Given the description of an element on the screen output the (x, y) to click on. 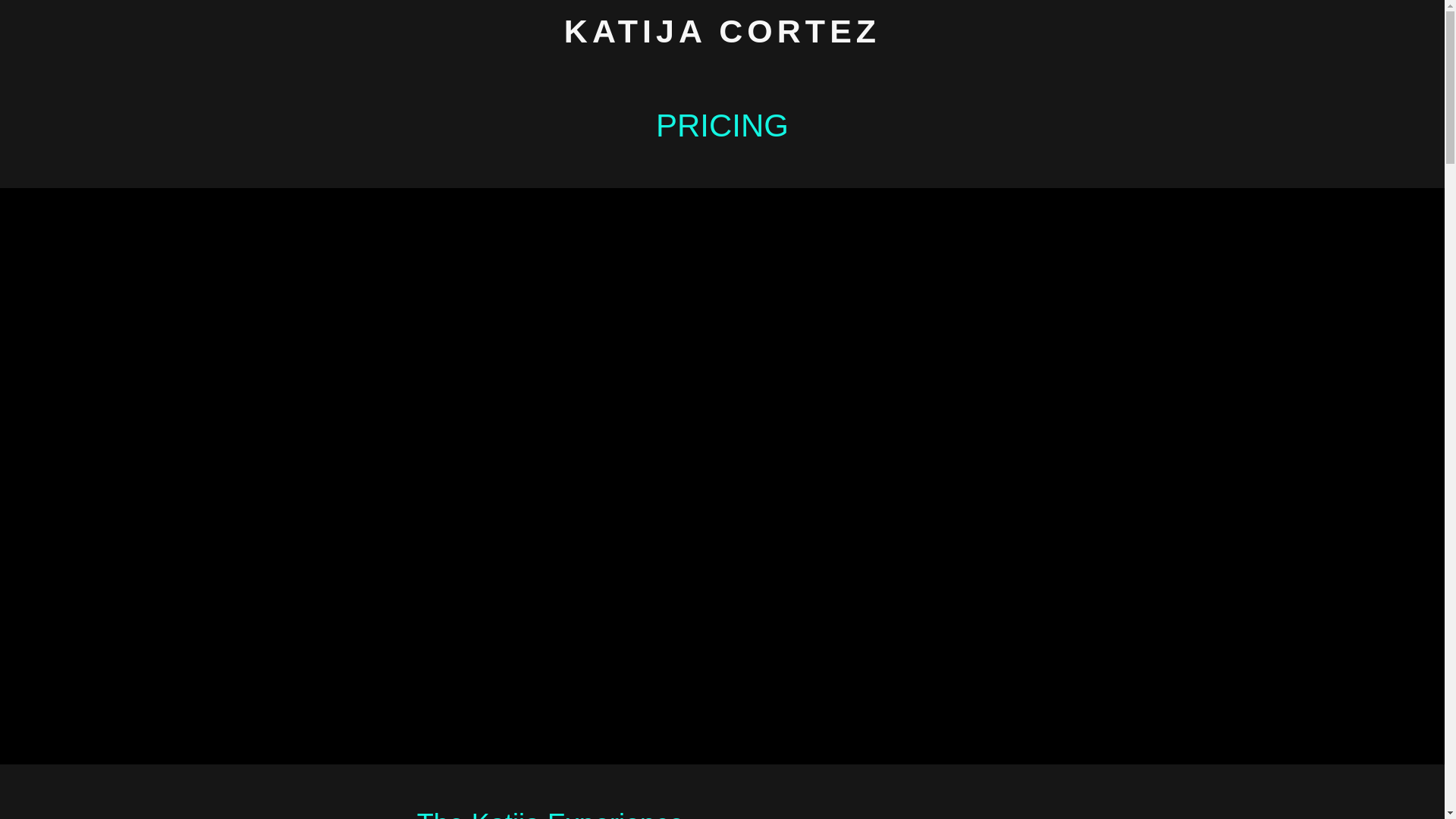
Katija Cortez (721, 37)
KATIJA CORTEZ (721, 37)
